Given the description of an element on the screen output the (x, y) to click on. 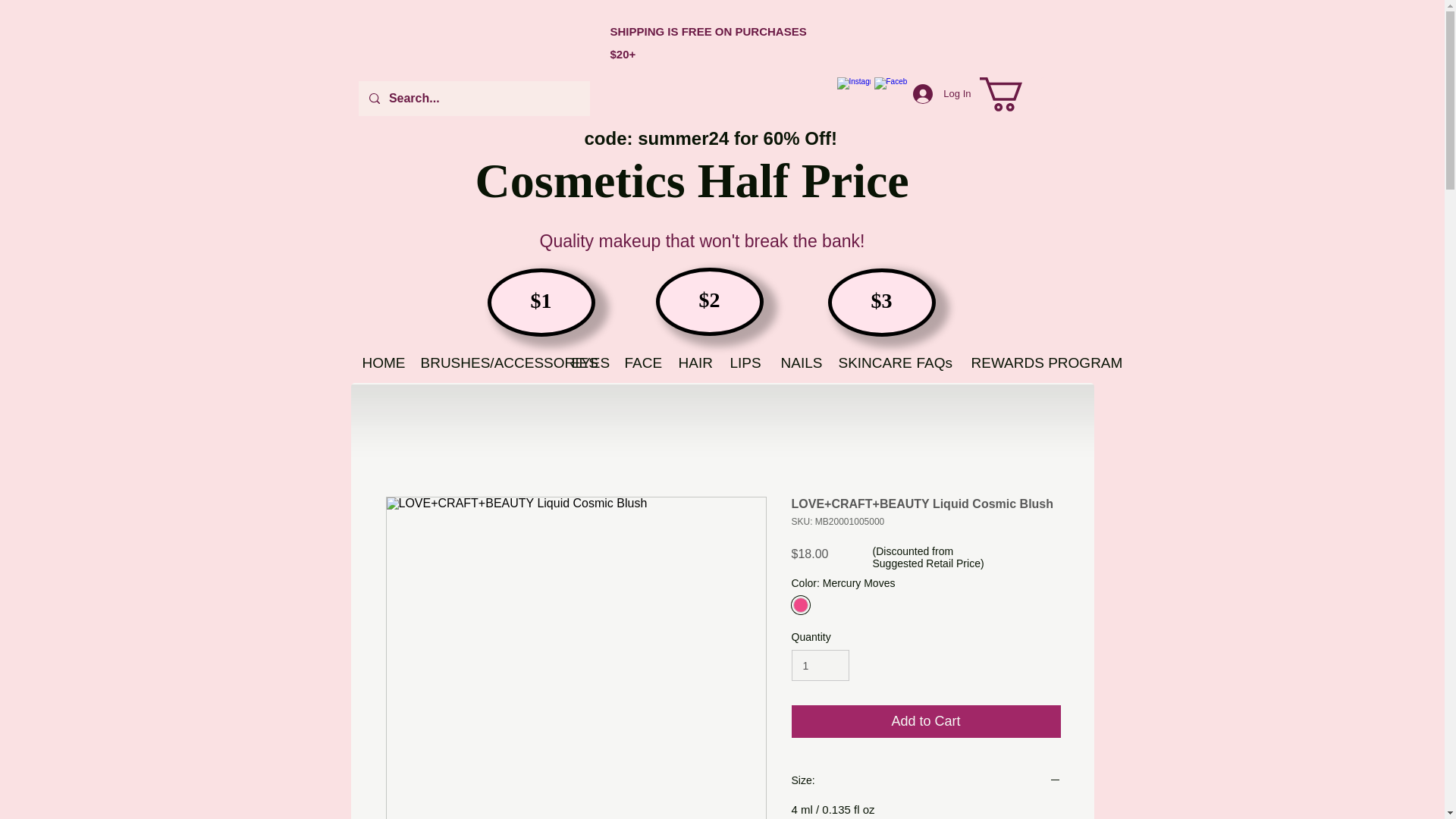
NAILS (797, 362)
HAIR (692, 362)
SKINCARE (865, 362)
Log In (941, 93)
LIPS (744, 362)
FACE (639, 362)
EYES (585, 362)
1 (820, 665)
HOME (379, 362)
FAQs (932, 362)
